Given the description of an element on the screen output the (x, y) to click on. 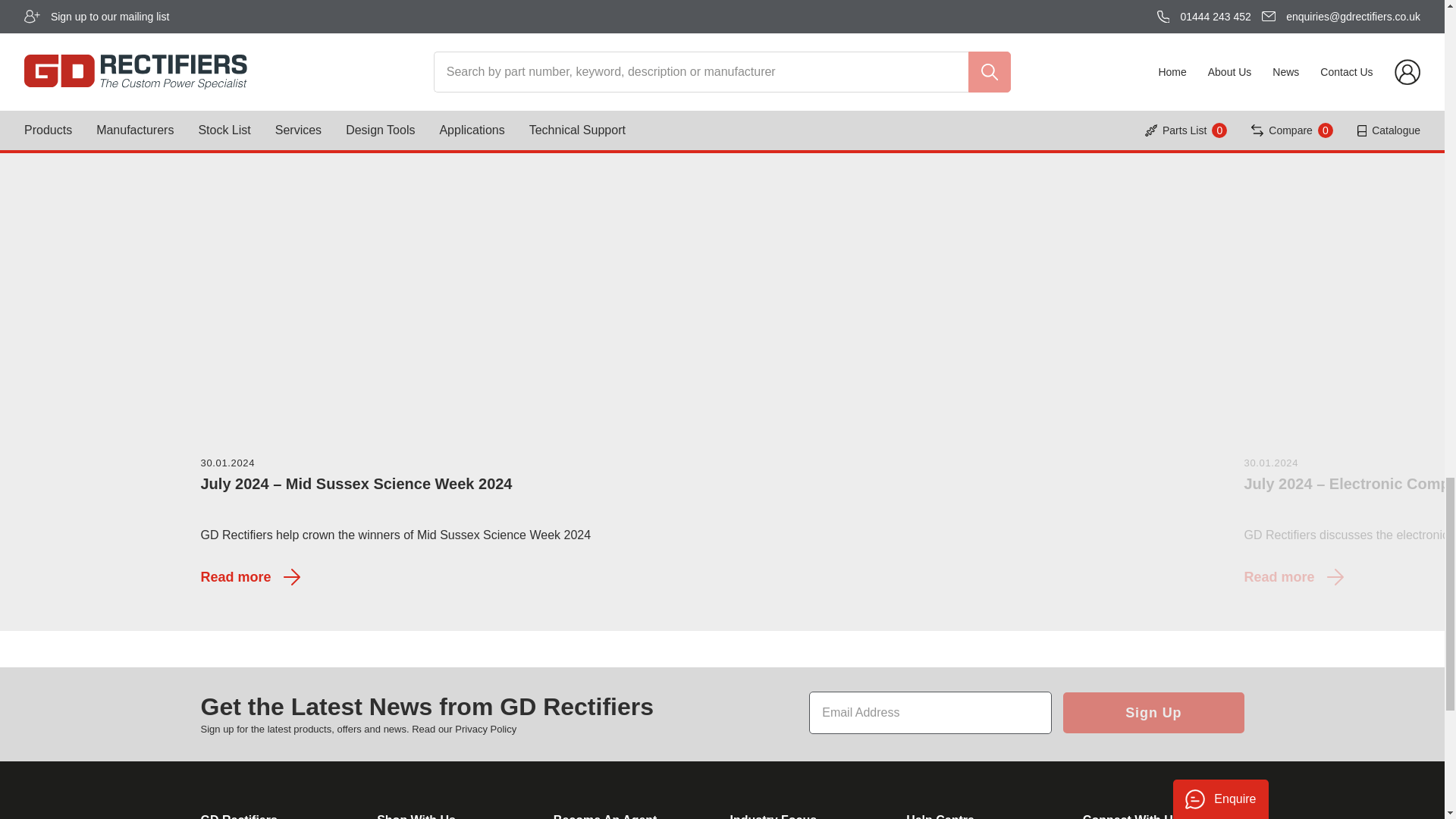
Sign Up (1152, 712)
